Given the description of an element on the screen output the (x, y) to click on. 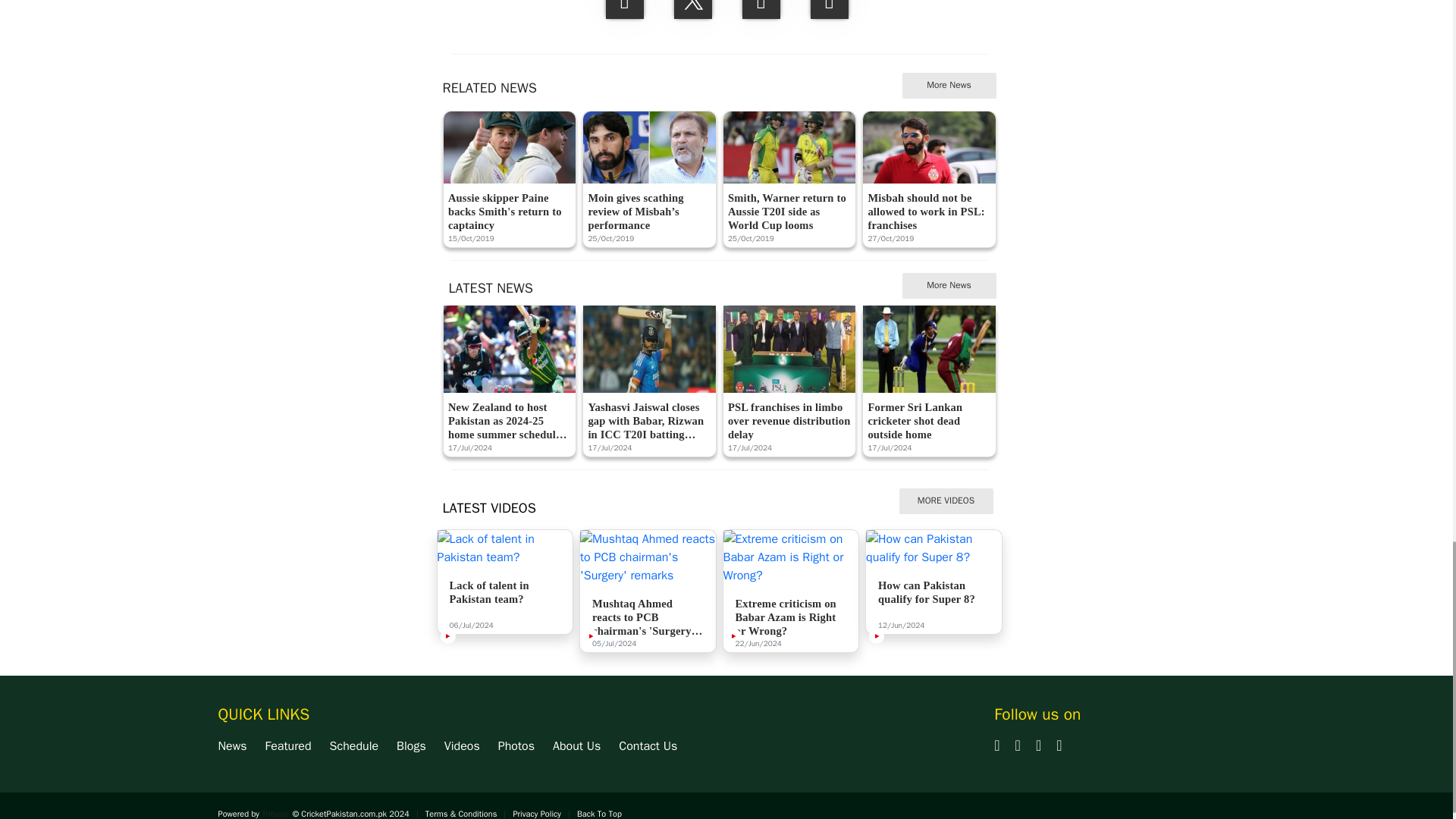
Back To Top (598, 813)
